Given the description of an element on the screen output the (x, y) to click on. 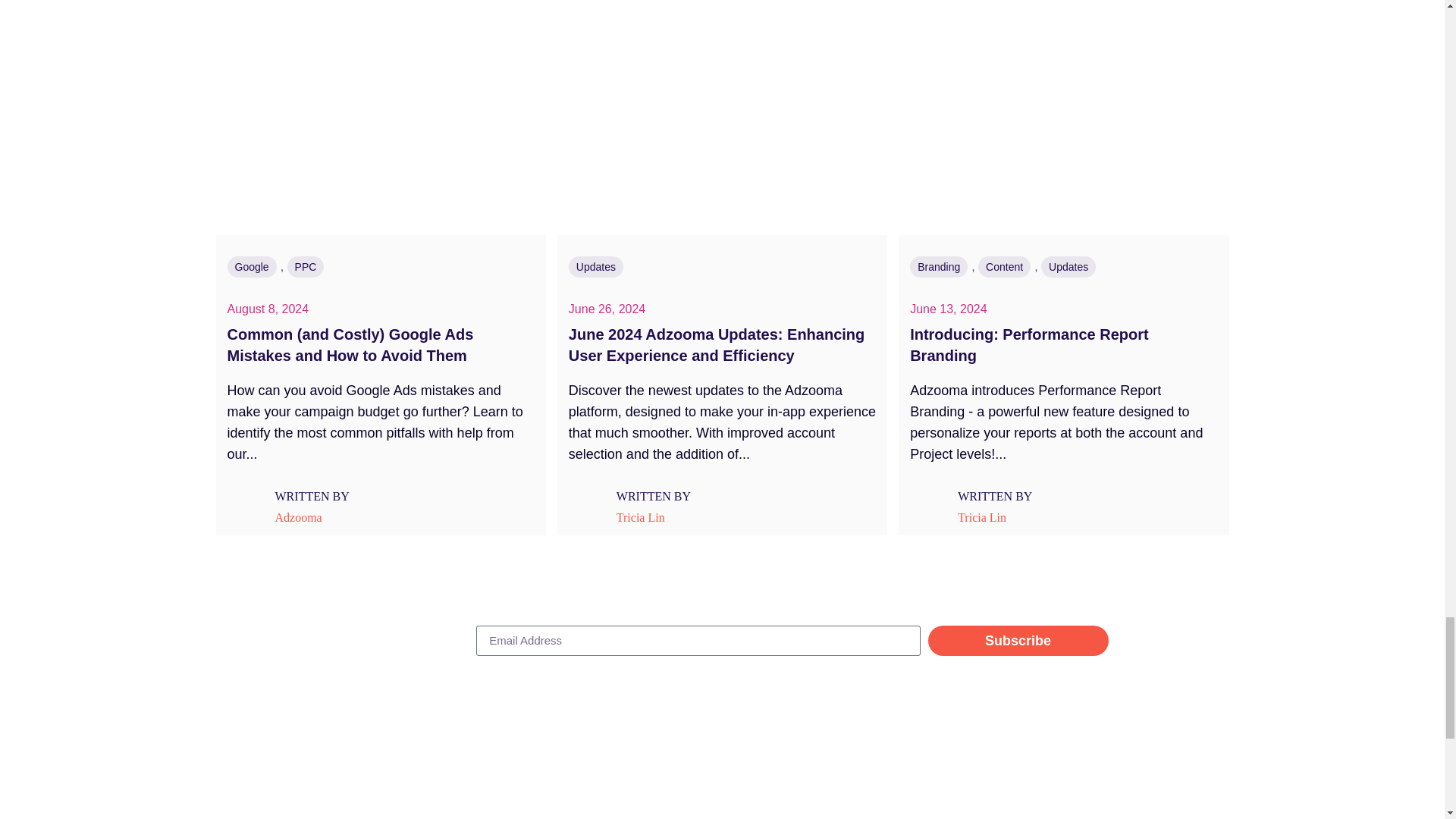
Tricia Lin (640, 517)
PPC (305, 266)
Branding (939, 266)
Updates (1068, 266)
Content (1004, 266)
Google (251, 266)
Adzooma (299, 517)
Updates (596, 266)
